Given the description of an element on the screen output the (x, y) to click on. 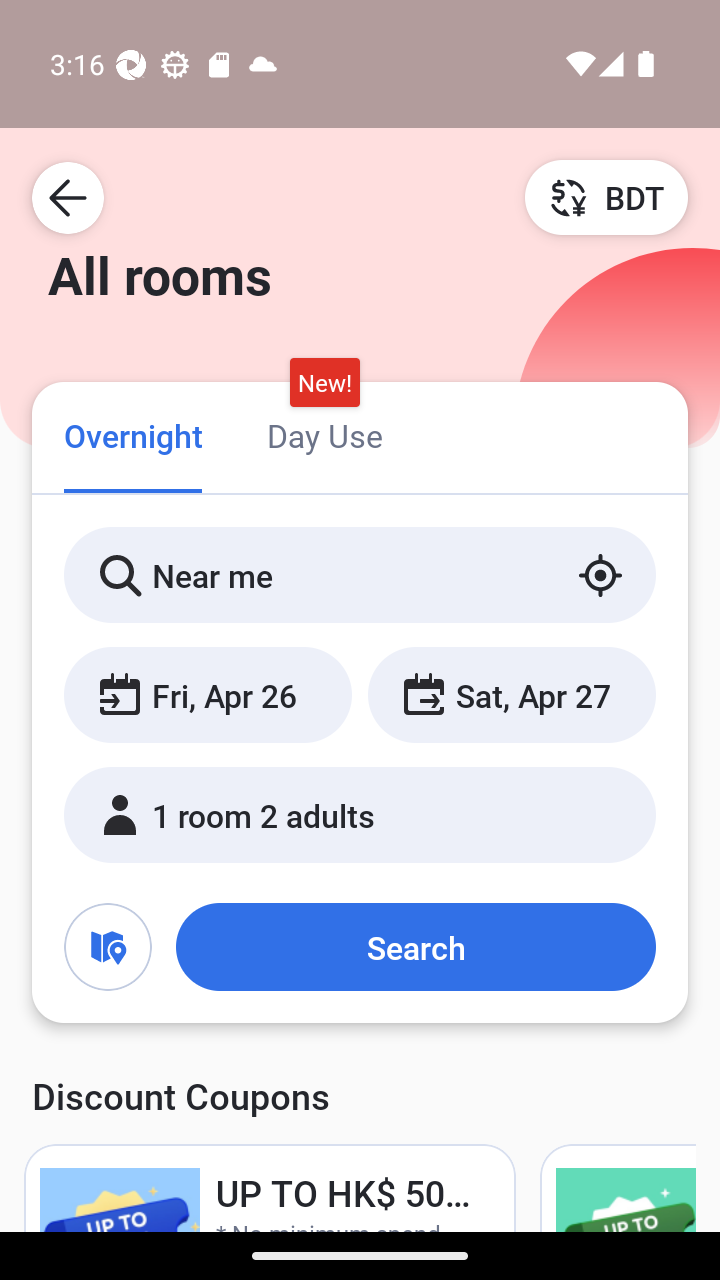
BDT (606, 197)
New! (324, 383)
Day Use (324, 434)
Near me (359, 575)
Fri, Apr 26 (208, 694)
Sat, Apr 27 (511, 694)
1 room 2 adults (359, 814)
Search (415, 946)
